Given the description of an element on the screen output the (x, y) to click on. 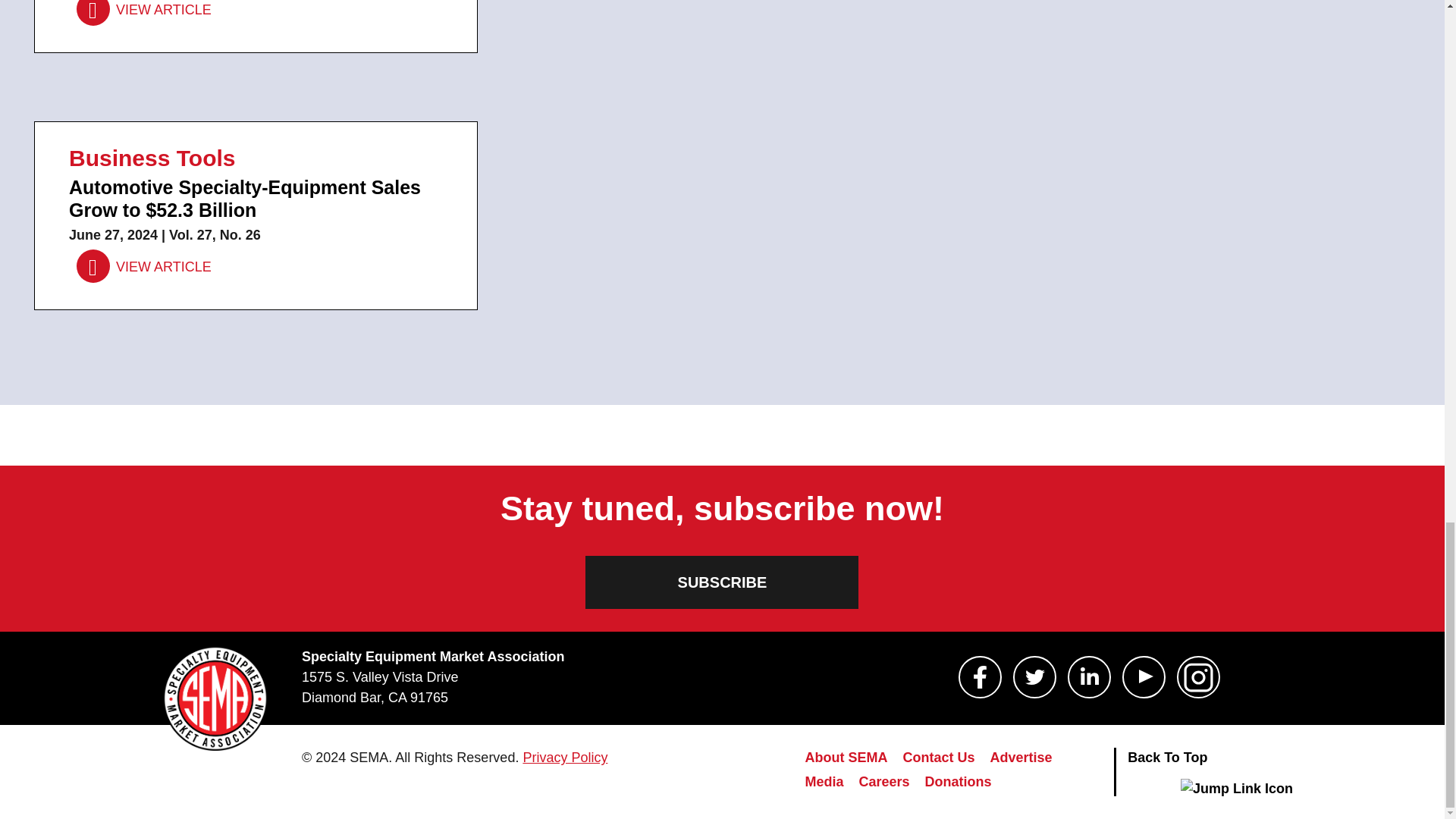
SEMA Twitter Link (1035, 677)
SEMA LinkedIn Link (1088, 677)
SUBSCRIBE (722, 582)
Privacy Policy (564, 757)
VIEW ARTICLE (143, 12)
SEMA Facebook Link (979, 677)
SEMA Instagram Link (1198, 677)
SEMA YouTube Link (1144, 677)
VIEW ARTICLE (143, 266)
